Given the description of an element on the screen output the (x, y) to click on. 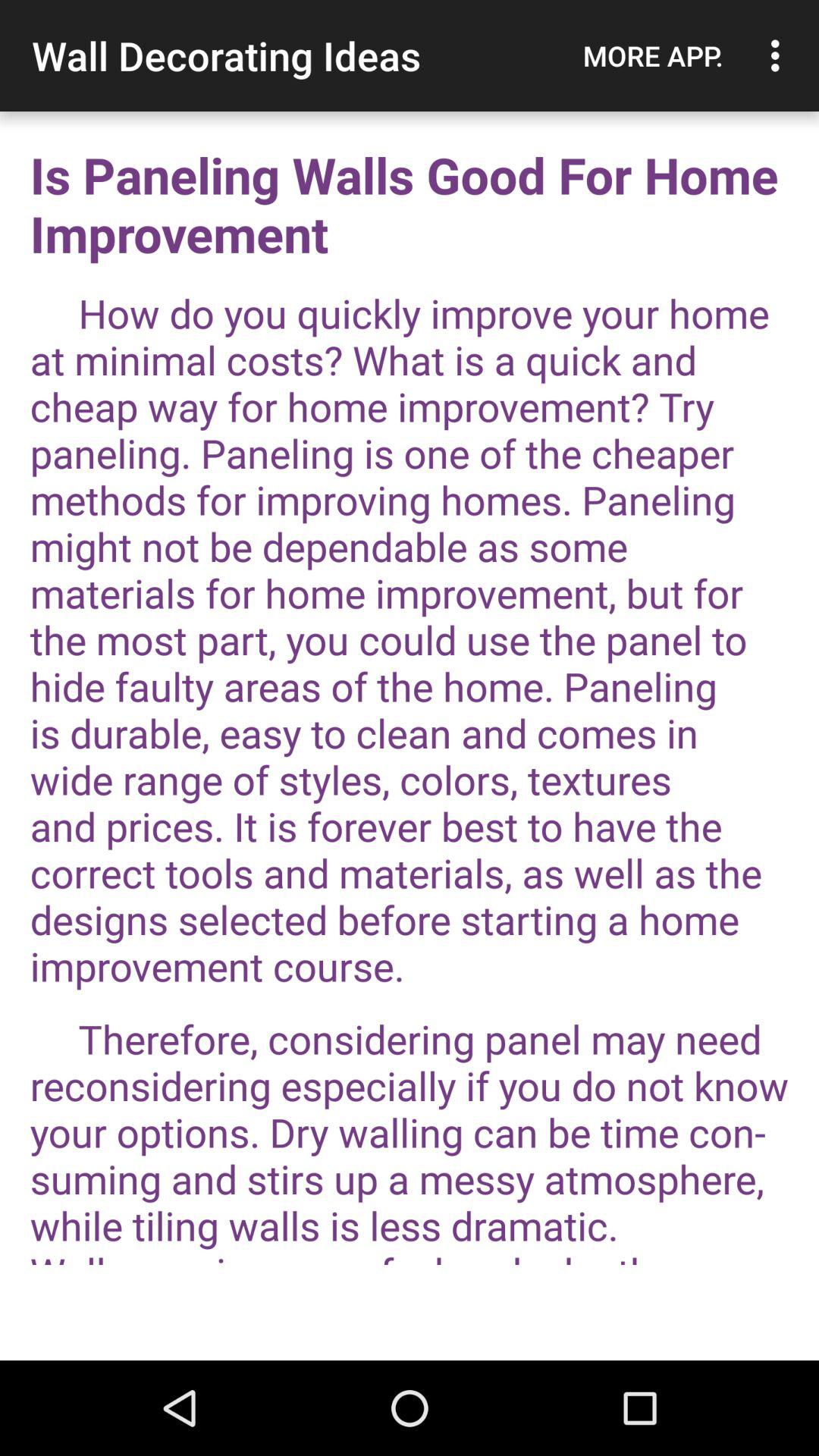
launch the more app. (653, 55)
